Given the description of an element on the screen output the (x, y) to click on. 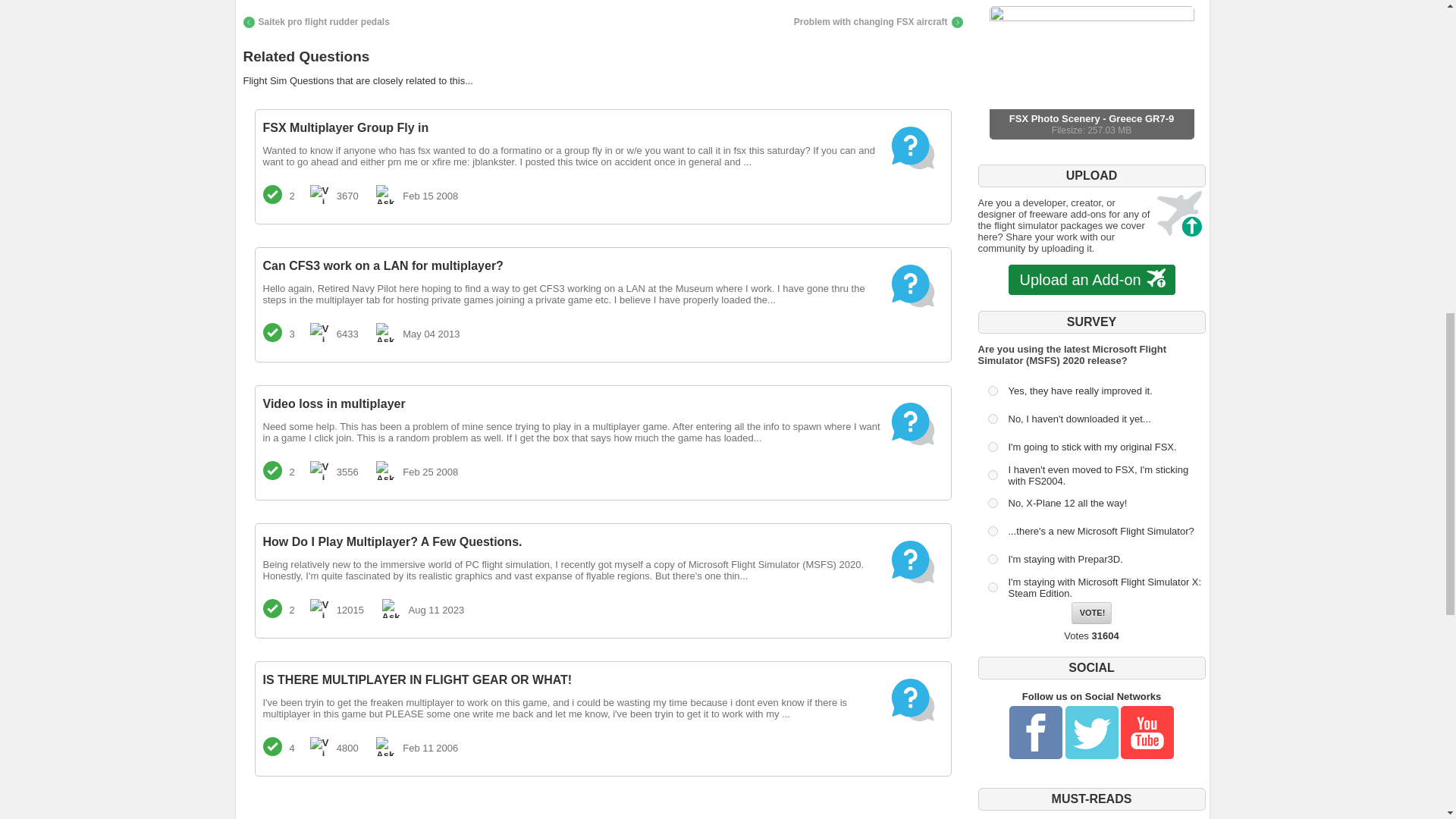
Saitek pro flight rudder pedals (315, 21)
Problem with changing FSX aircraft (877, 21)
9 (992, 587)
Vote! (1090, 72)
2 (1091, 612)
Number of views this question has had (992, 419)
1 (319, 194)
The date this question was first asked (992, 390)
Number of answers to the question (384, 194)
3 (271, 332)
Number of answers to the question (992, 447)
